Given the description of an element on the screen output the (x, y) to click on. 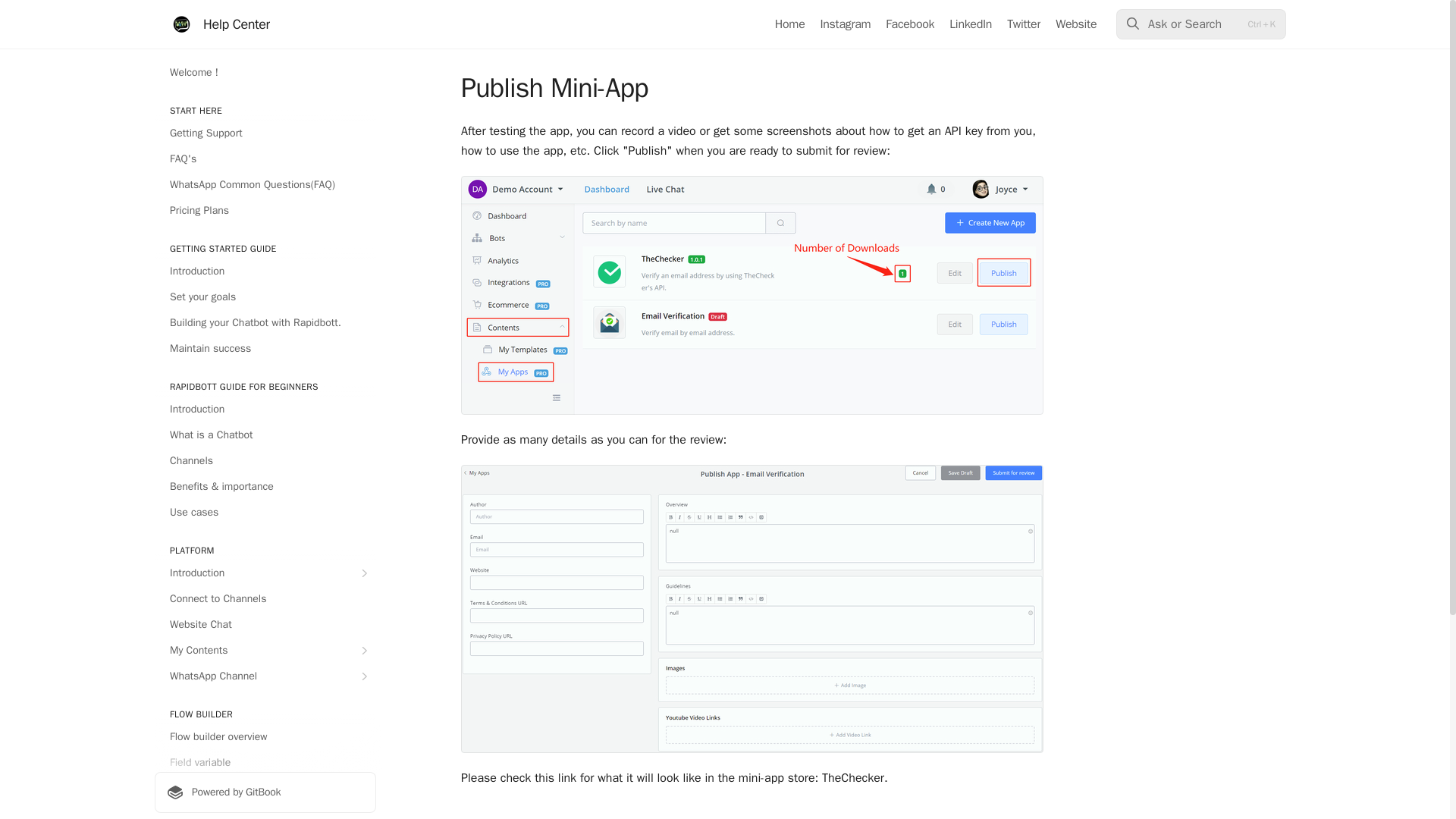
Building your Chatbot with Rapidbott. (264, 322)
Use cases (264, 512)
Introduction (264, 573)
What is a Chatbot (264, 435)
Getting Support (264, 133)
Introduction (264, 409)
FAQ's (264, 159)
Introduction (264, 271)
Maintain success (264, 348)
Welcome ! (264, 72)
